Given the description of an element on the screen output the (x, y) to click on. 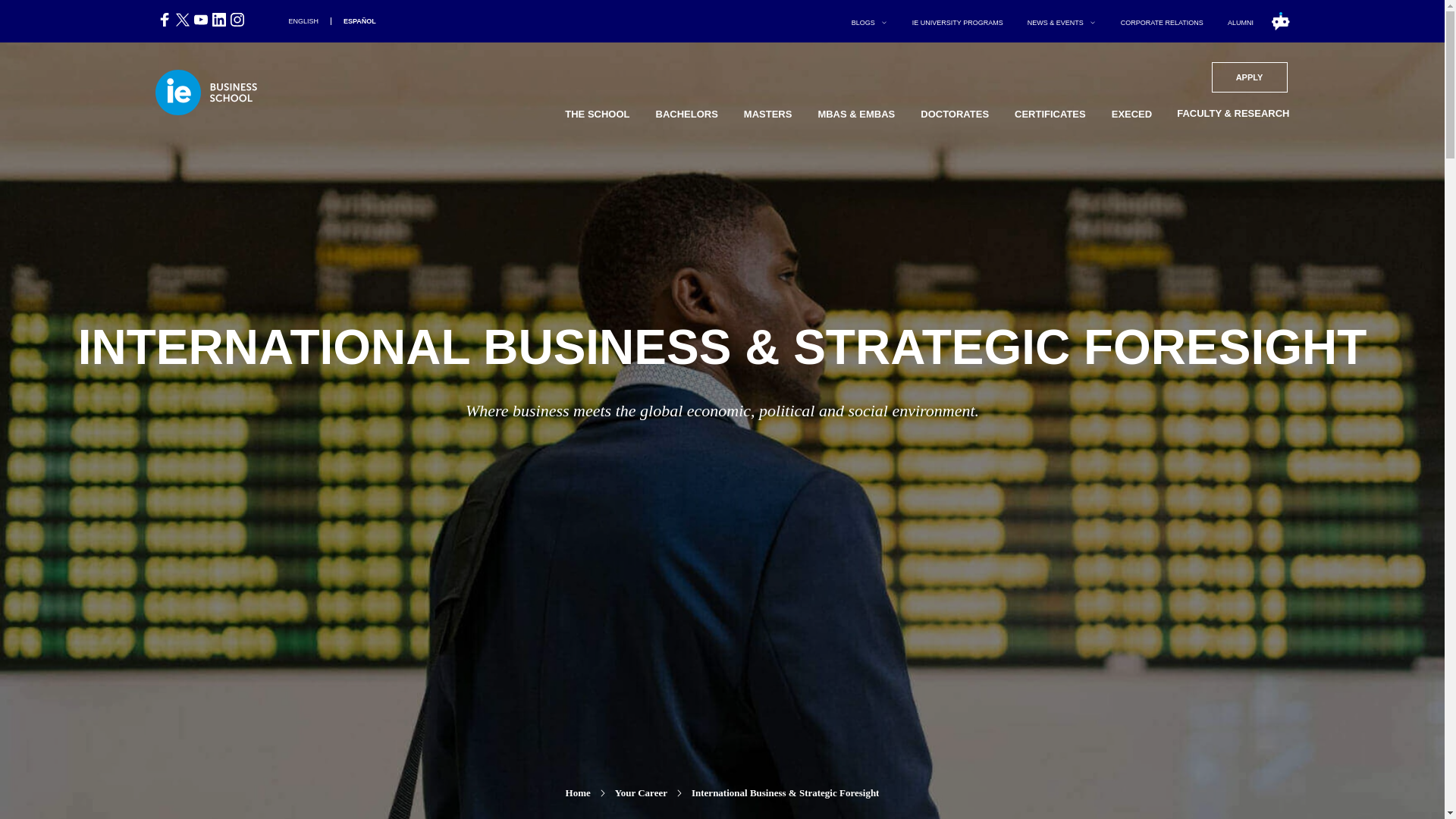
INSTAGRAM (236, 19)
APPLY (1249, 75)
Chatbot. It will open in a new tab (1271, 21)
CERTIFICATES (218, 19)
BACHELORS (1162, 21)
FACEBOOK (1050, 115)
